Given the description of an element on the screen output the (x, y) to click on. 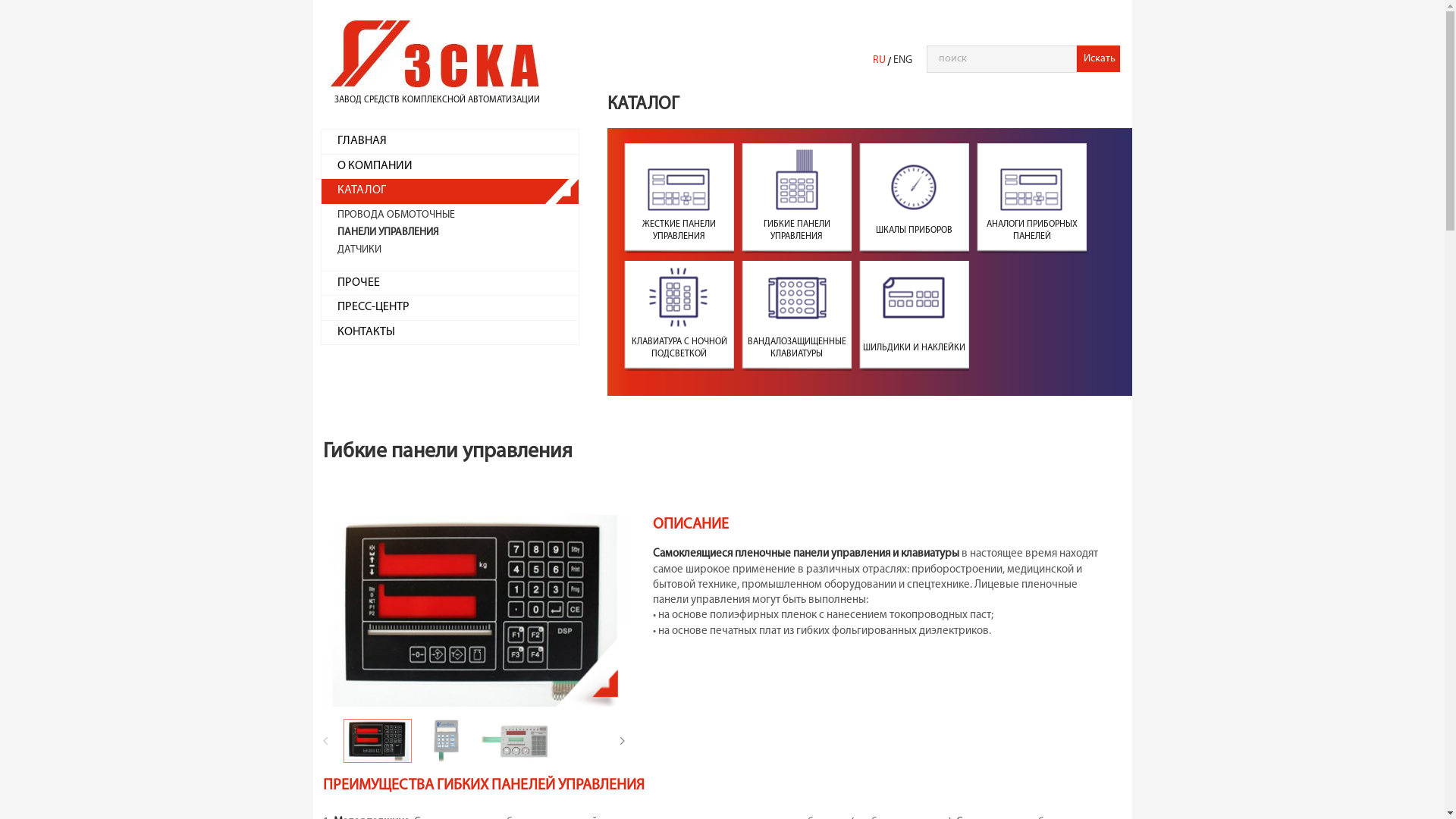
Previous Element type: text (342, 740)
RU Element type: text (880, 59)
Next Element type: text (639, 740)
ENG Element type: text (902, 59)
